Given the description of an element on the screen output the (x, y) to click on. 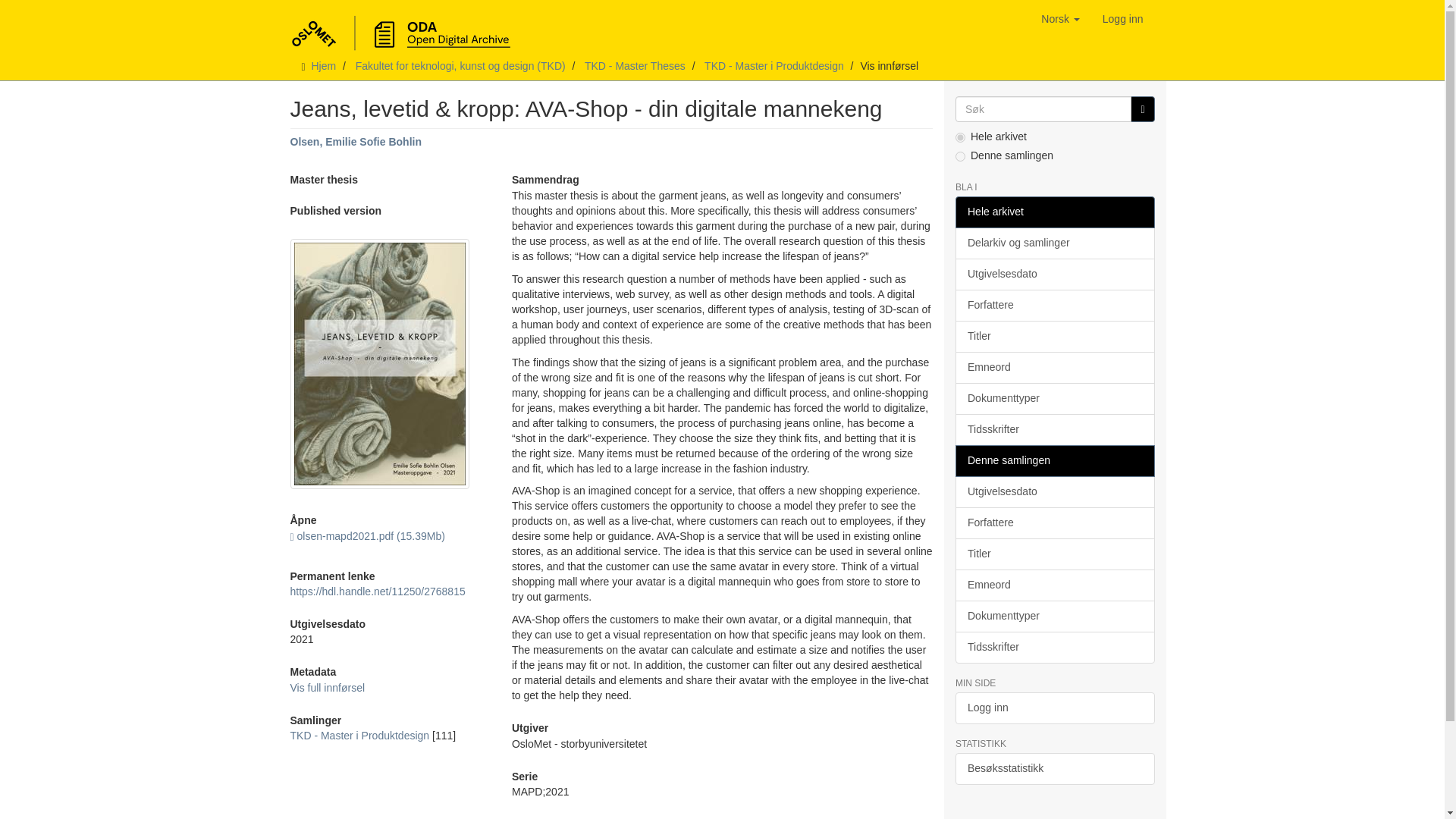
Norsk  (1059, 18)
Olsen, Emilie Sofie Bohlin (354, 141)
Logg inn (1122, 18)
Delarkiv og samlinger (1054, 243)
Hjem (323, 65)
TKD - Master Theses (635, 65)
Forfattere (1054, 305)
Hele arkivet (1054, 212)
Utgivelsesdato (1054, 274)
TKD - Master i Produktdesign (359, 735)
TKD - Master i Produktdesign (774, 65)
Titler (1054, 336)
Emneord (1054, 368)
